Given the description of an element on the screen output the (x, y) to click on. 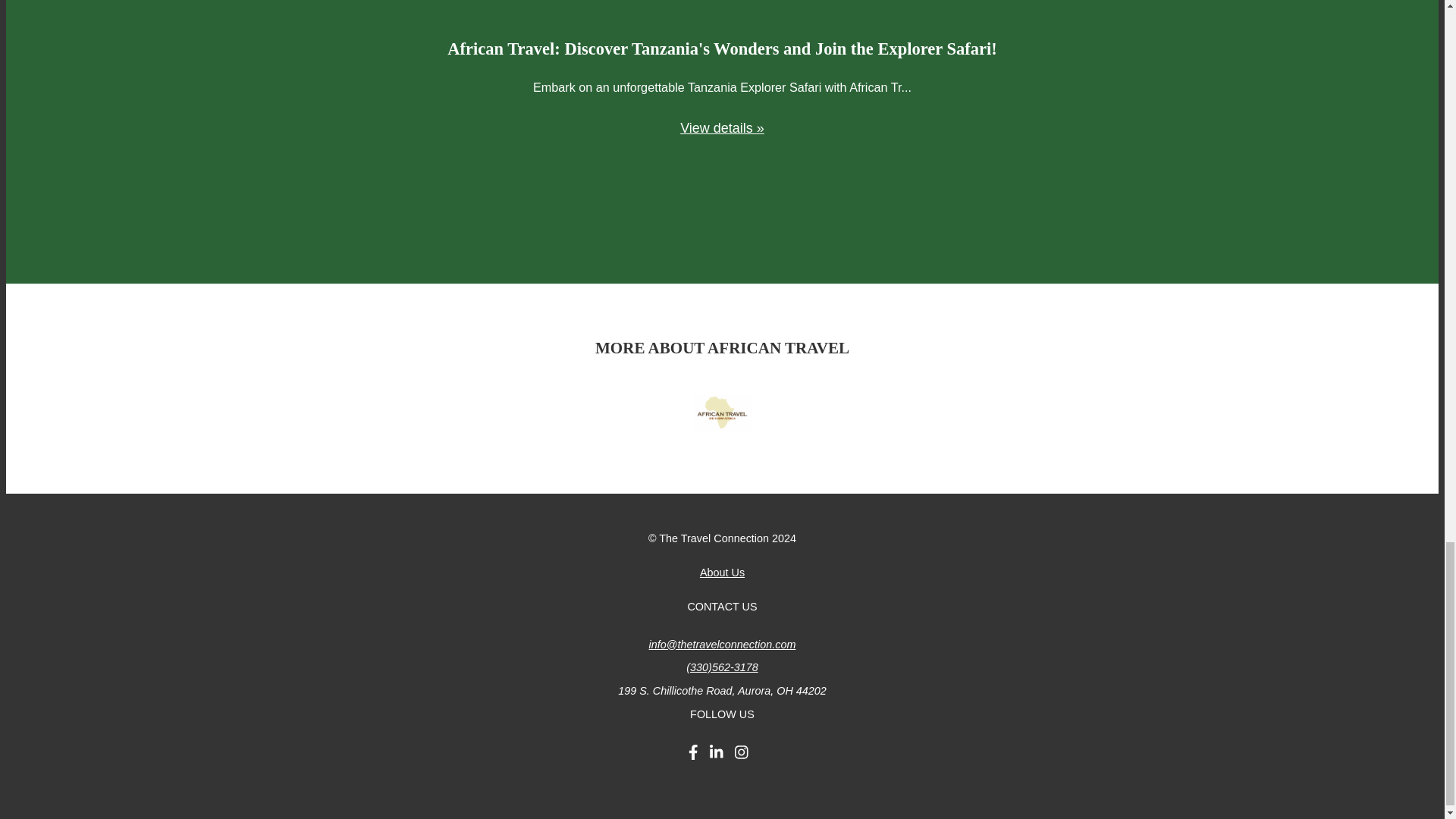
About Us (722, 572)
